Given the description of an element on the screen output the (x, y) to click on. 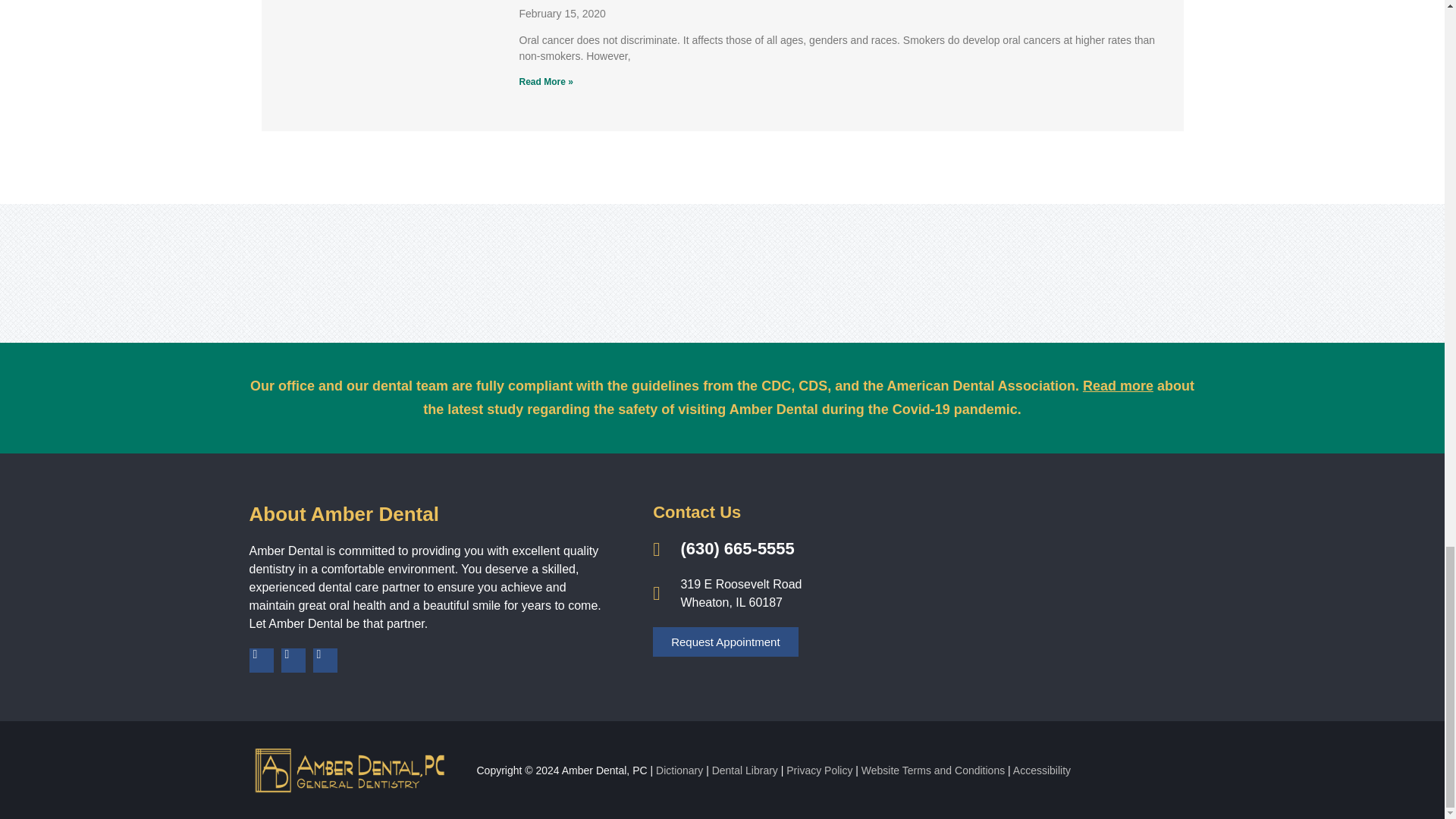
Amber Dental of Wheaton (1042, 585)
